Given the description of an element on the screen output the (x, y) to click on. 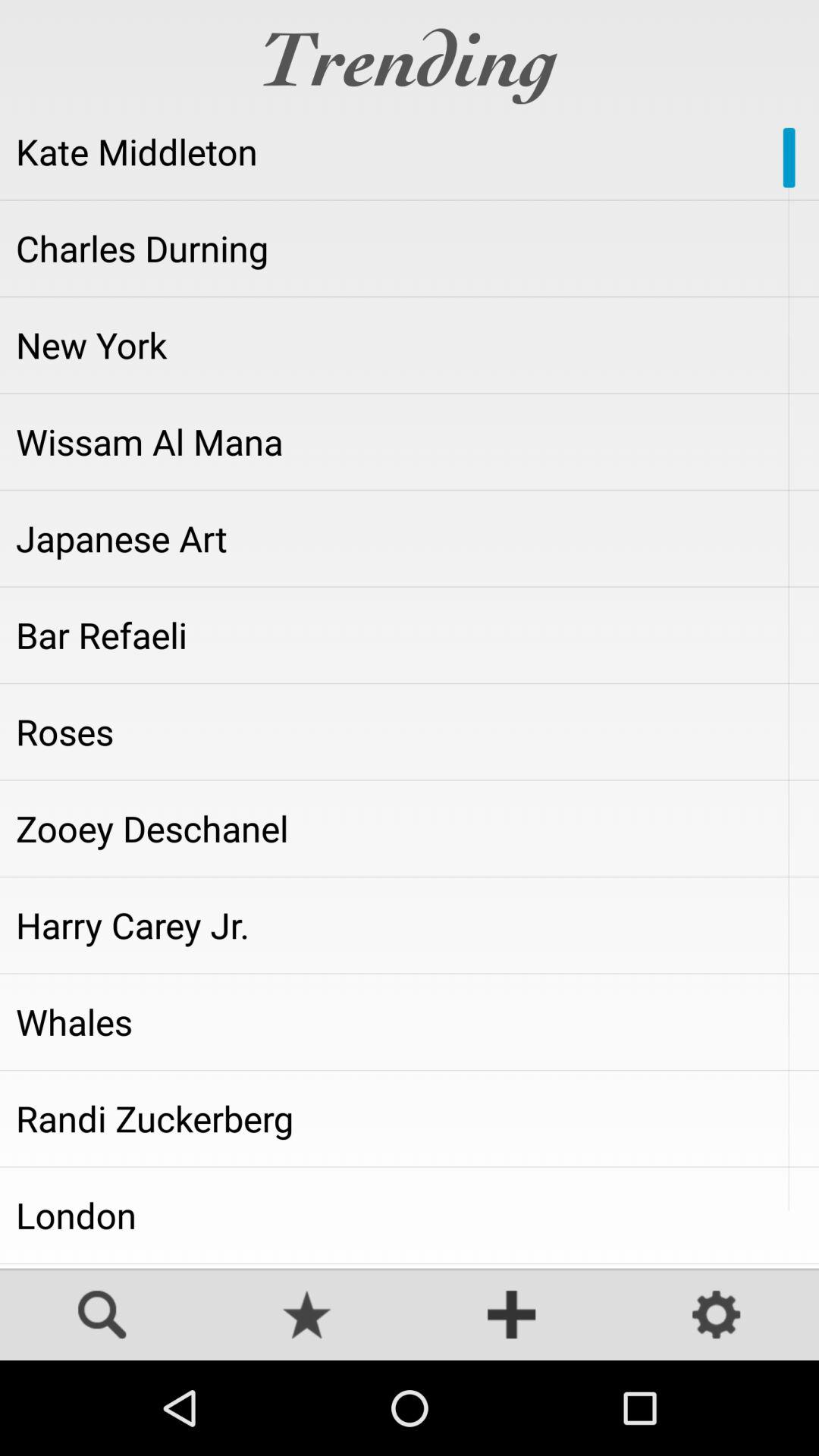
settings option (716, 1316)
